Given the description of an element on the screen output the (x, y) to click on. 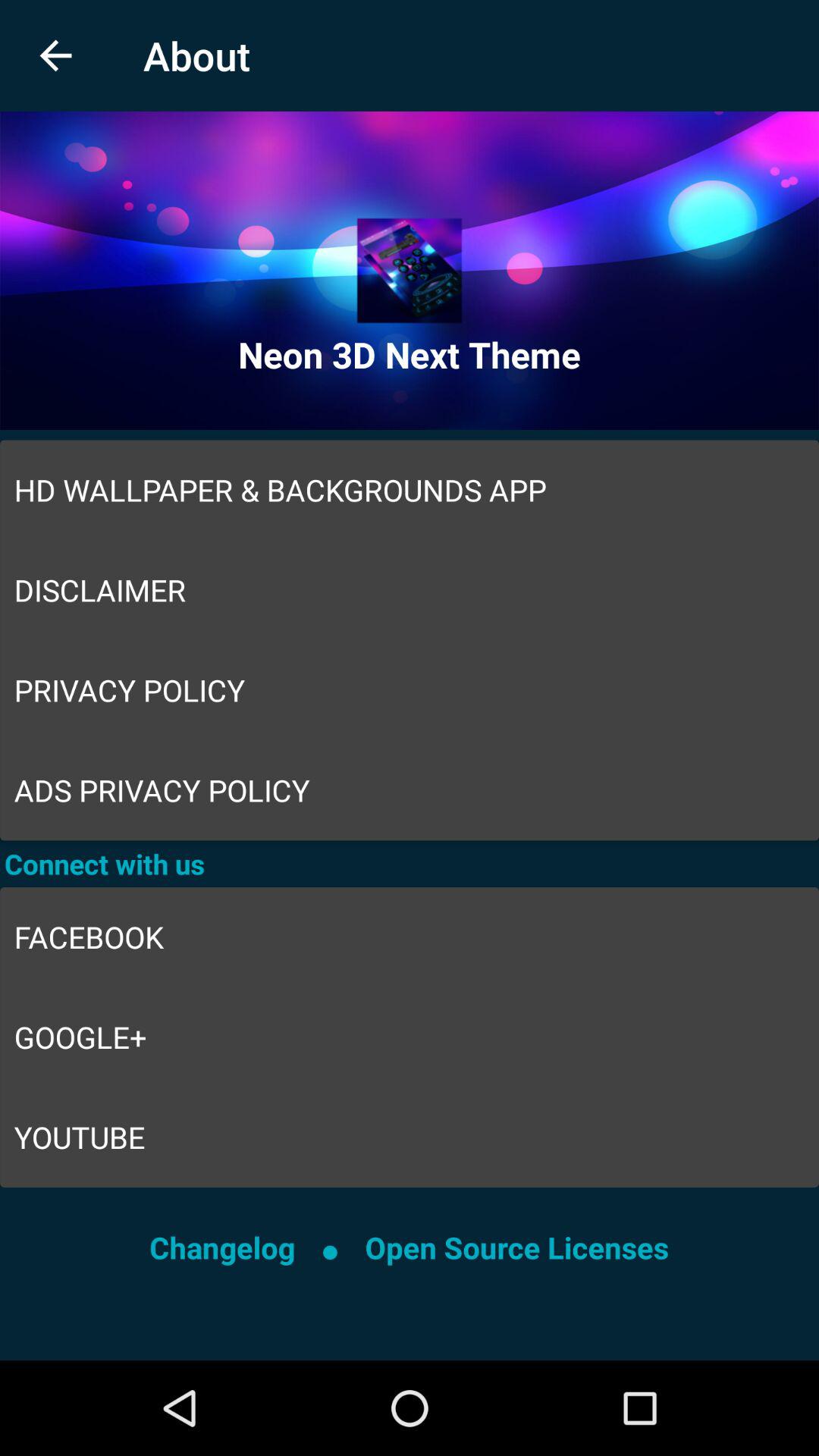
press the youtube icon (409, 1137)
